Given the description of an element on the screen output the (x, y) to click on. 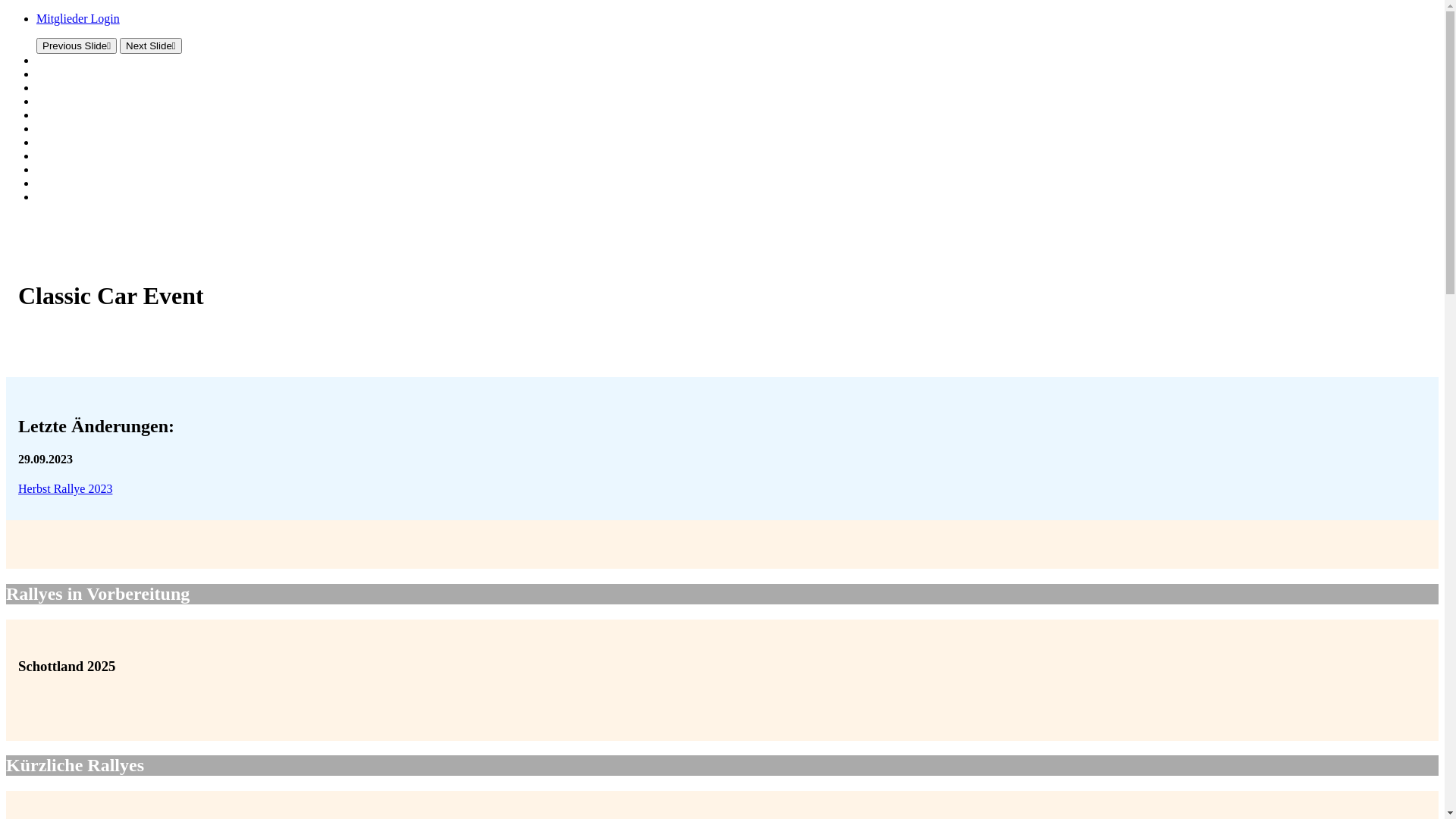
Herbst Rallye 2023 Element type: text (65, 488)
Mitglieder Login Element type: text (77, 18)
